Given the description of an element on the screen output the (x, y) to click on. 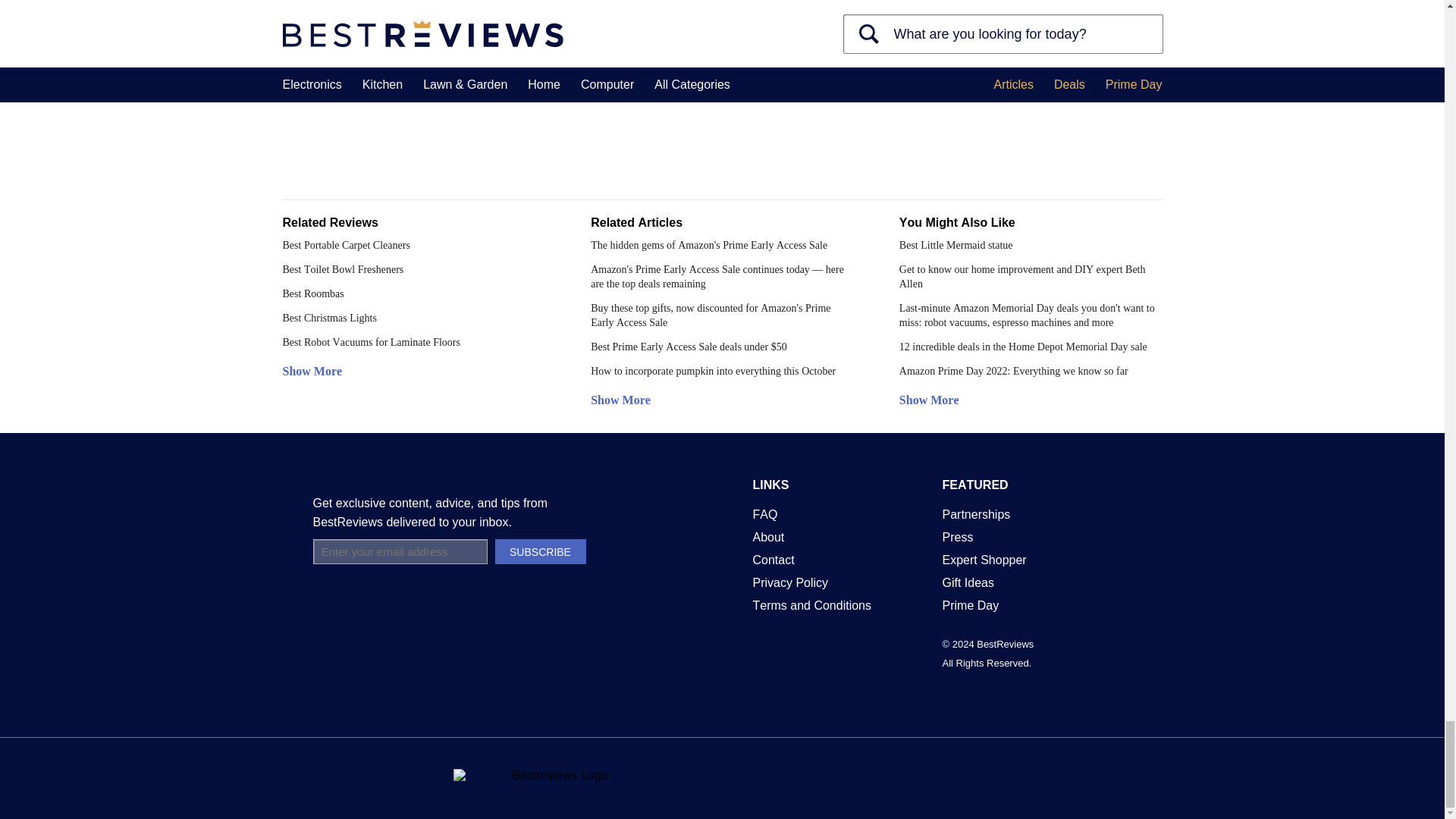
Contact Us (772, 559)
Frequently asked questions (764, 513)
Subscribe email (399, 551)
